Given the description of an element on the screen output the (x, y) to click on. 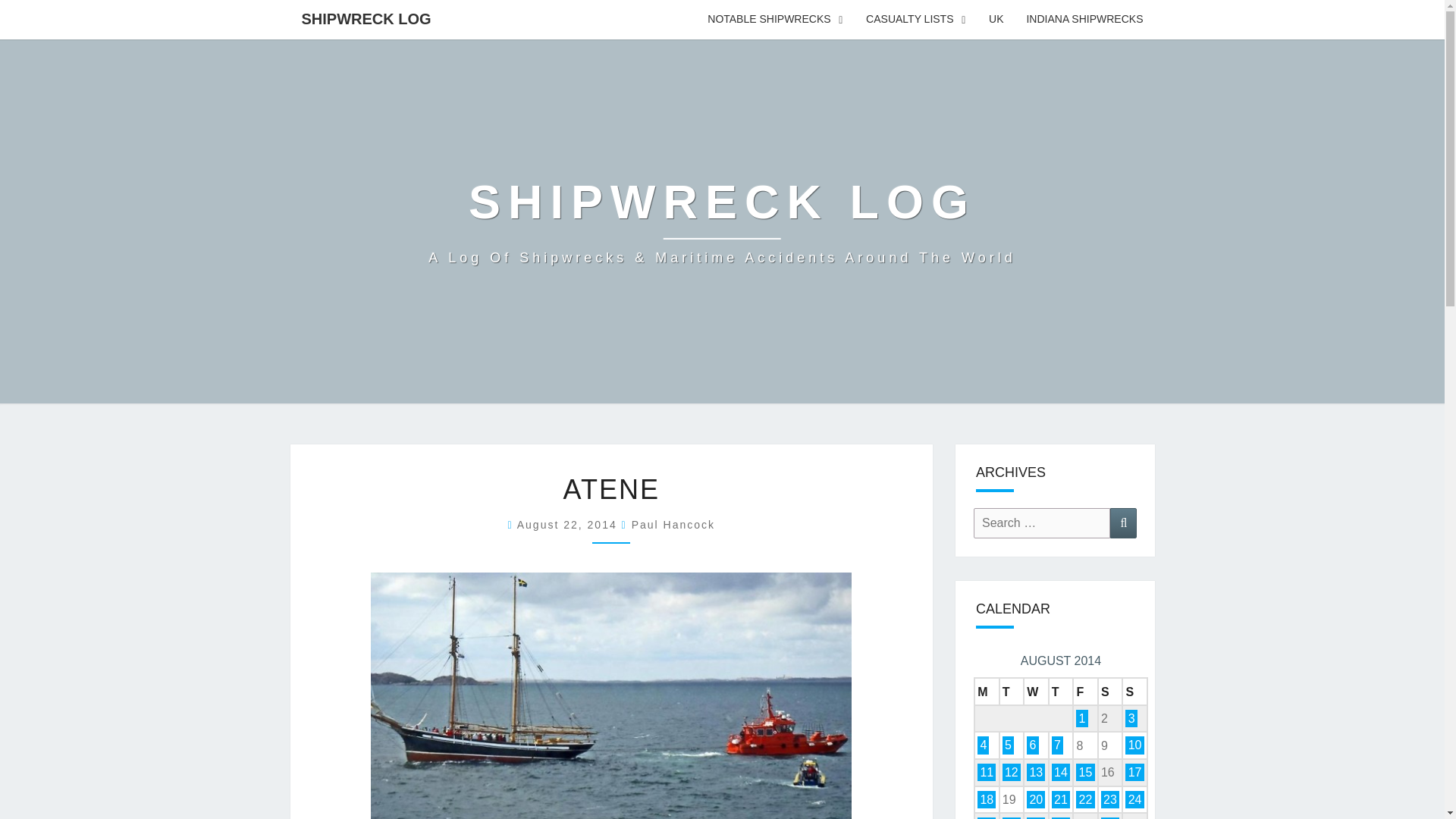
Shipwreck Log (722, 221)
August 22, 2014 (568, 524)
SHIPWRECK LOG (365, 18)
NOTABLE SHIPWRECKS (774, 19)
Paul Hancock (672, 524)
CASUALTY LISTS (915, 19)
View all posts by Paul Hancock (672, 524)
INDIANA SHIPWRECKS (1084, 19)
9:48 pm (568, 524)
UK (995, 19)
